Given the description of an element on the screen output the (x, y) to click on. 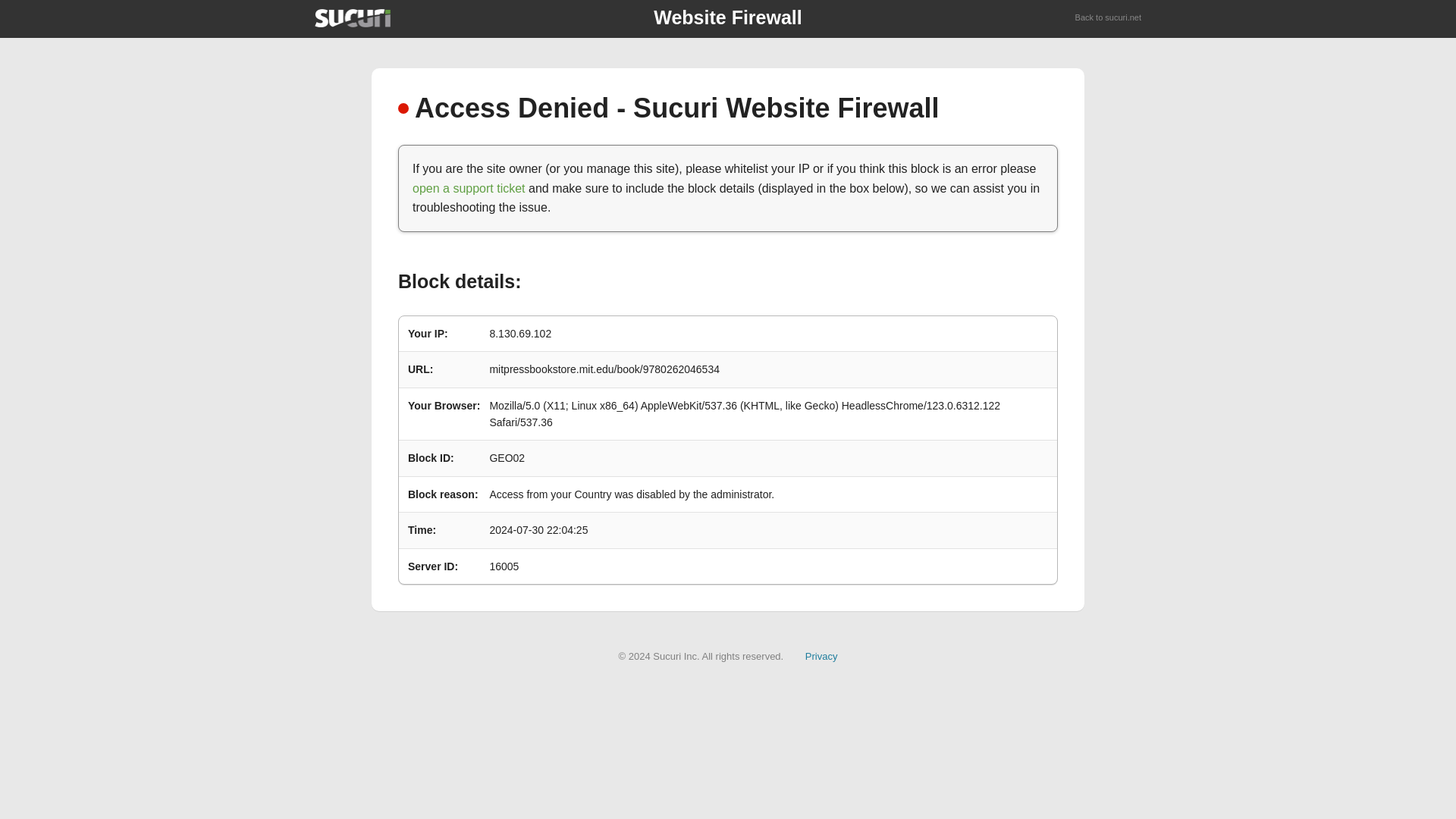
open a support ticket (468, 187)
Back to sucuri.net (1108, 18)
Privacy (821, 655)
